Given the description of an element on the screen output the (x, y) to click on. 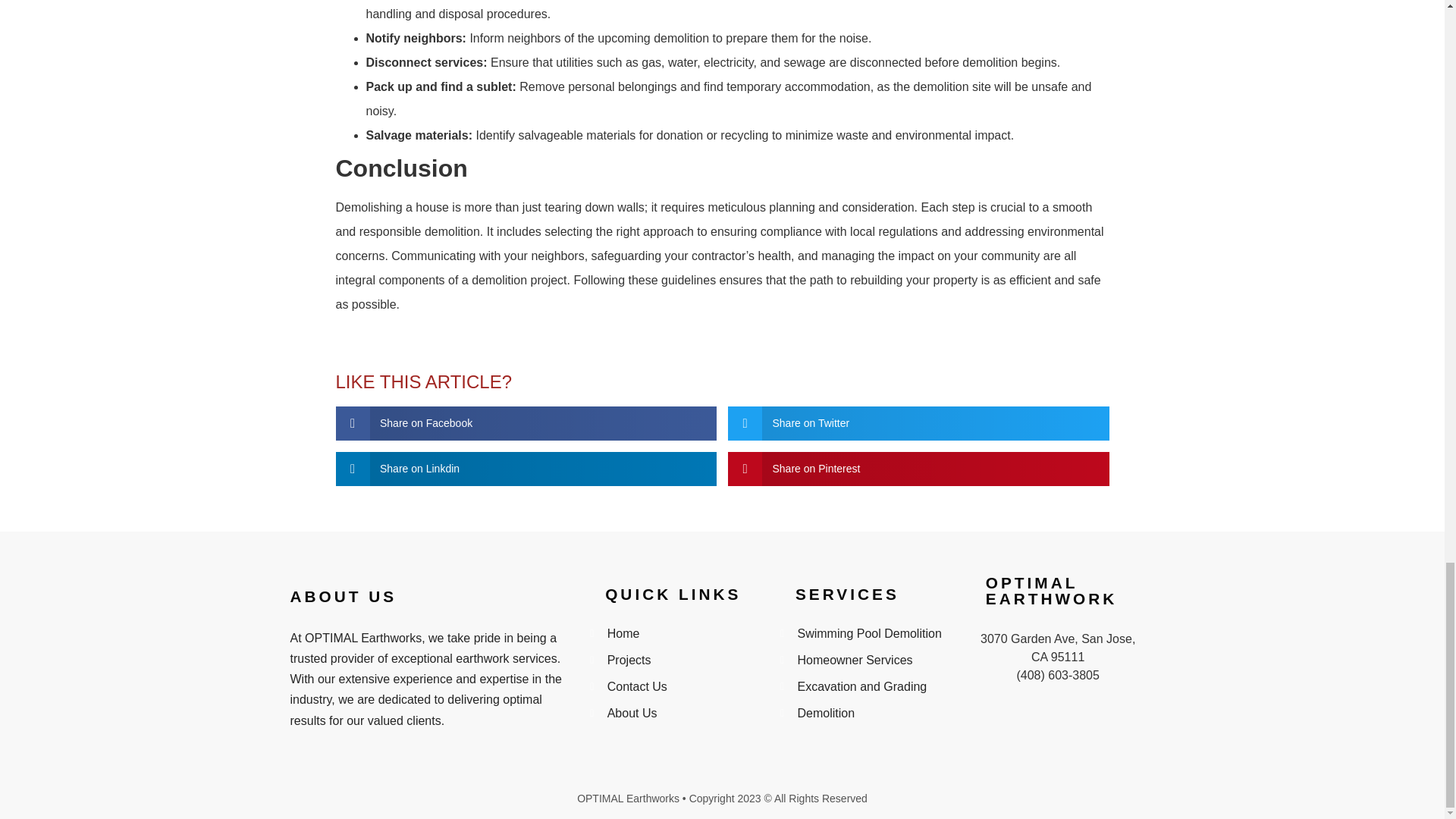
Homeowner Services (867, 660)
Projects (677, 660)
Contact Us (677, 687)
Home (677, 633)
Demolition (867, 713)
About Us (677, 713)
Excavation and Grading (867, 687)
Swimming Pool Demolition (867, 633)
